Given the description of an element on the screen output the (x, y) to click on. 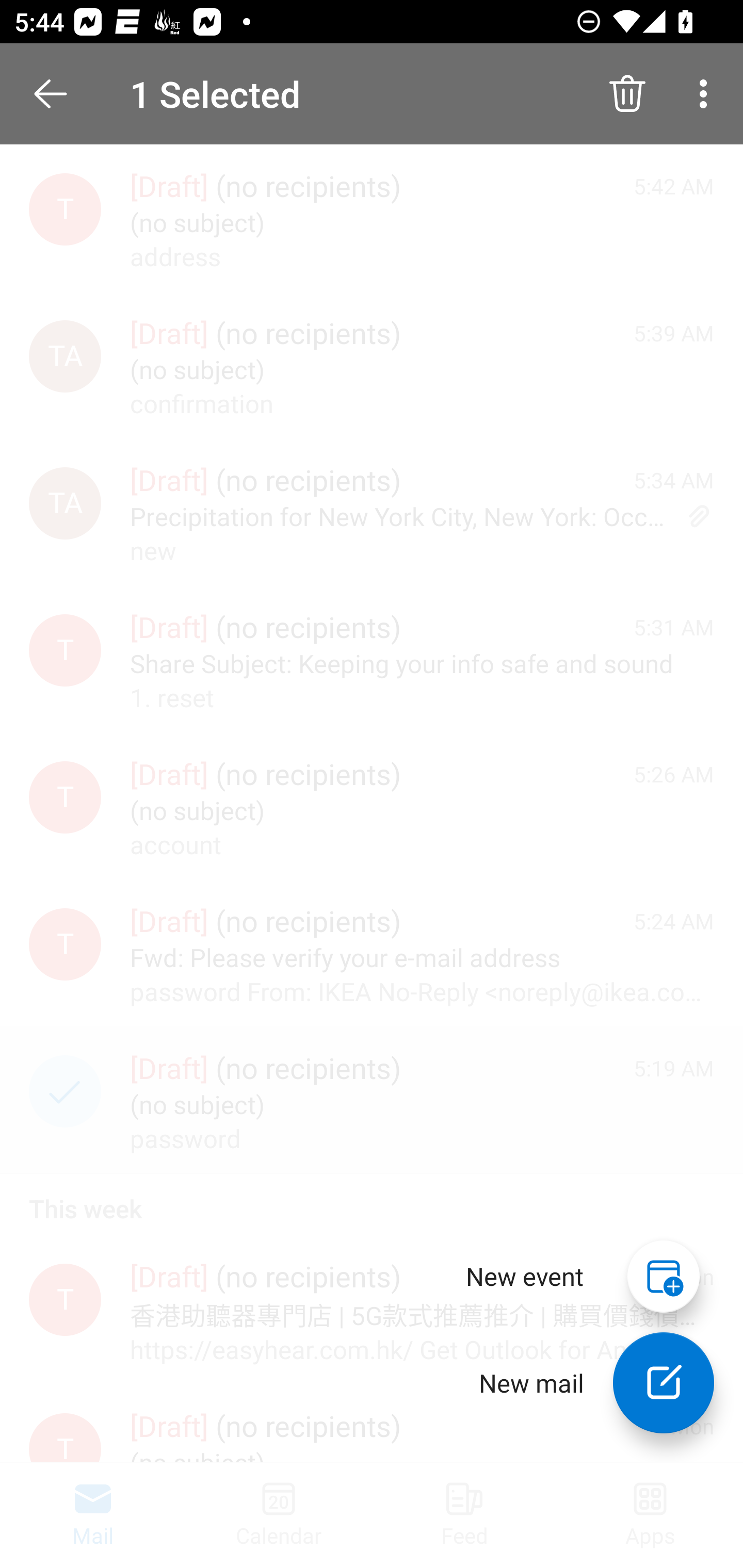
Done (50, 93)
Delete (626, 93)
More options (706, 93)
New event (524, 1275)
New mail New mail New mail (582, 1382)
New mail (663, 1382)
